Given the description of an element on the screen output the (x, y) to click on. 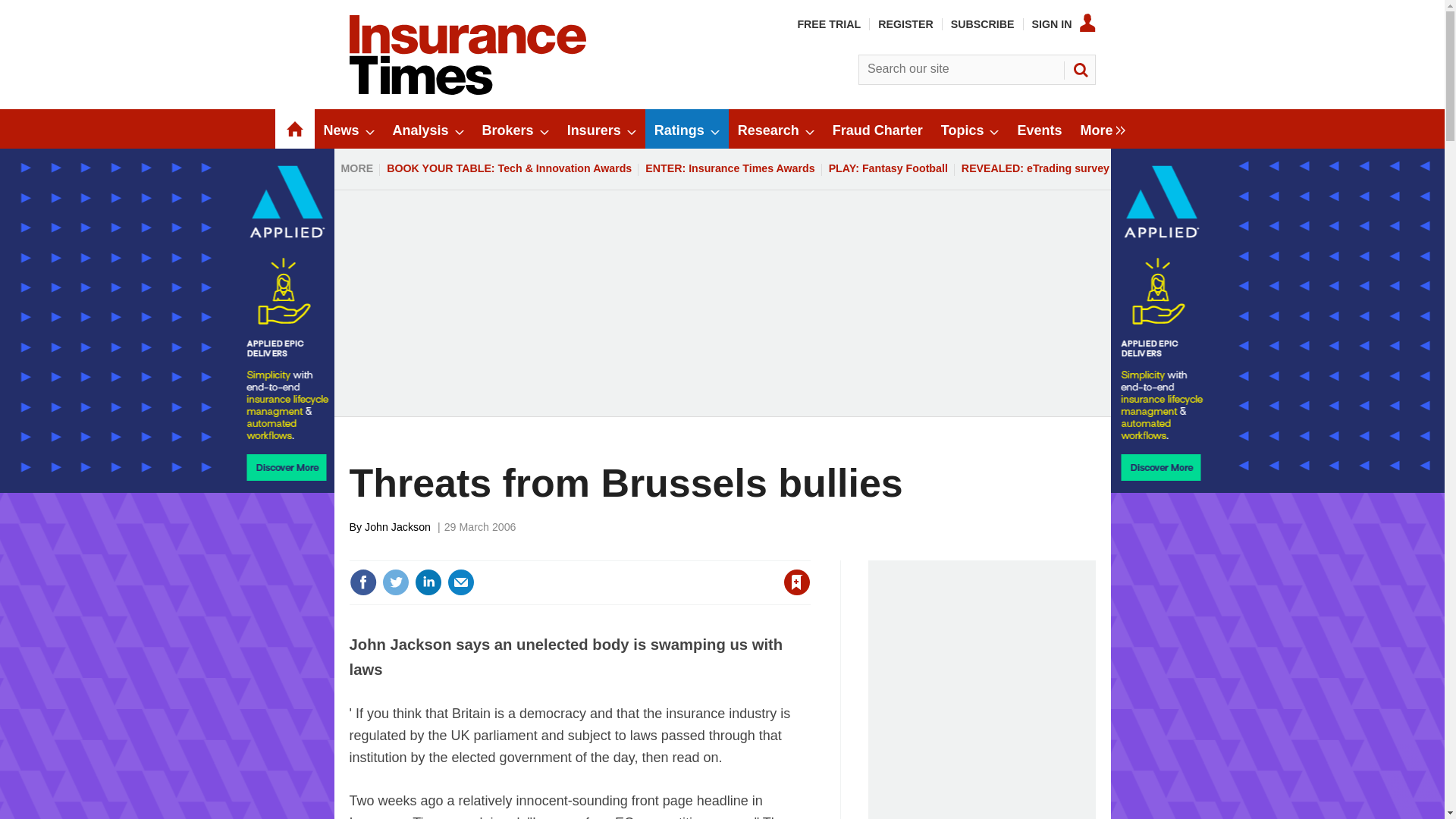
SUBSCRIBE (982, 24)
Share this on Linked in (427, 582)
FREE TRIAL (828, 24)
PLAY: Fantasy Football (888, 168)
ENTER: Insurance Times Awards (730, 168)
Share this on Facebook (362, 582)
Share this on Twitter (395, 582)
Insert Logo text (467, 90)
SEARCH (1079, 69)
